Given the description of an element on the screen output the (x, y) to click on. 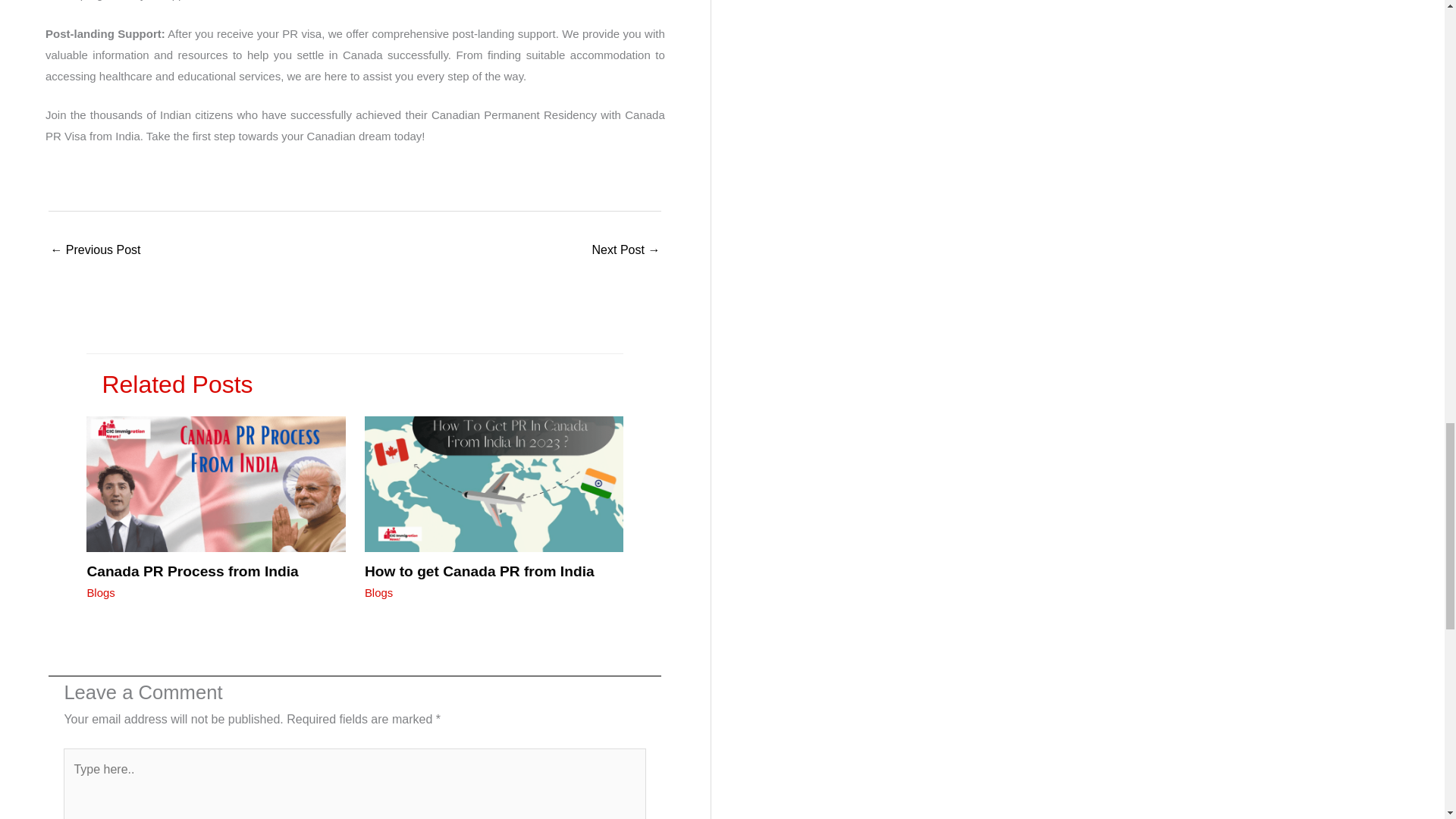
How to get Canada PR from India (94, 251)
